Given the description of an element on the screen output the (x, y) to click on. 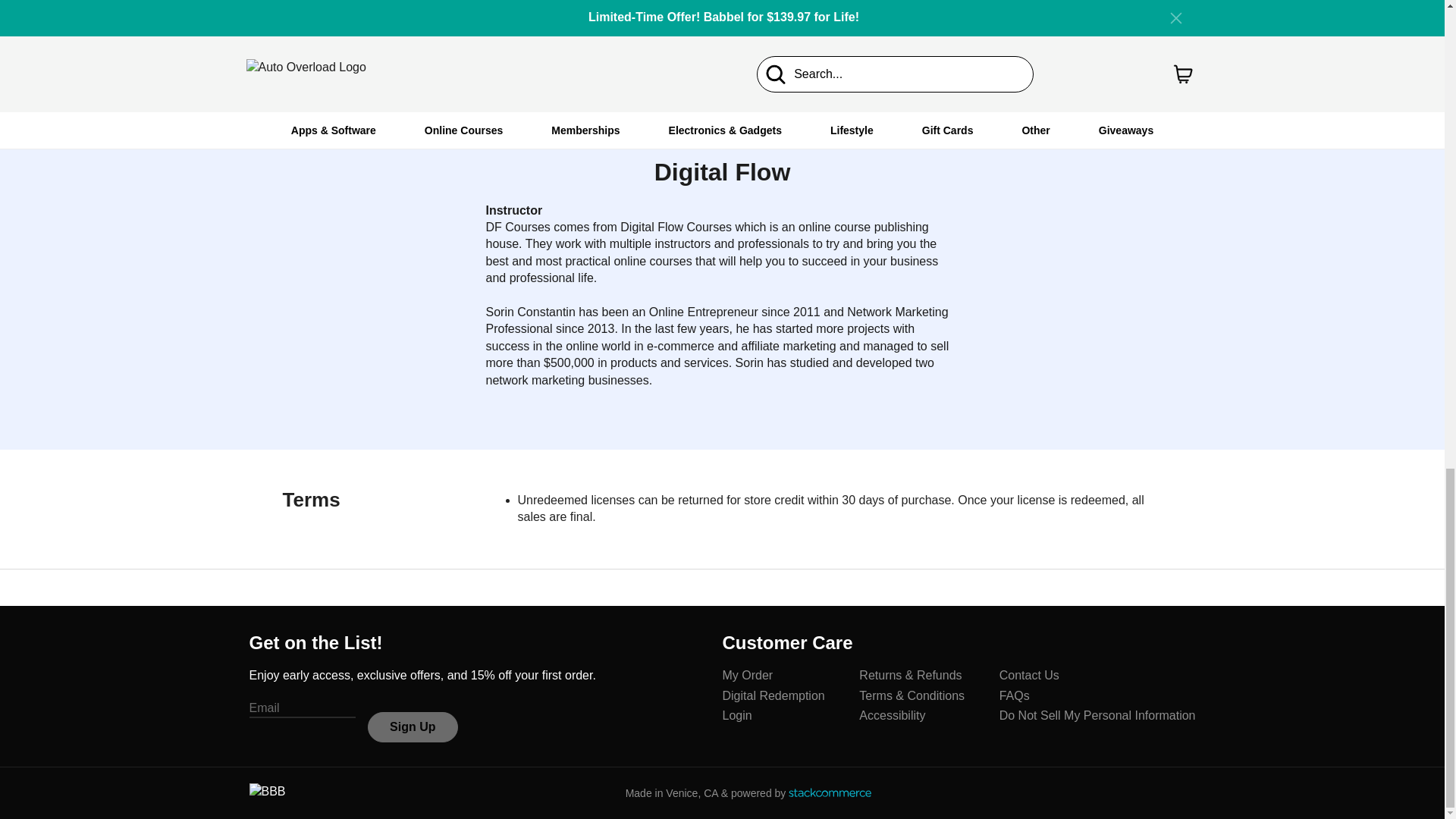
StackCommerce (829, 792)
